Given the description of an element on the screen output the (x, y) to click on. 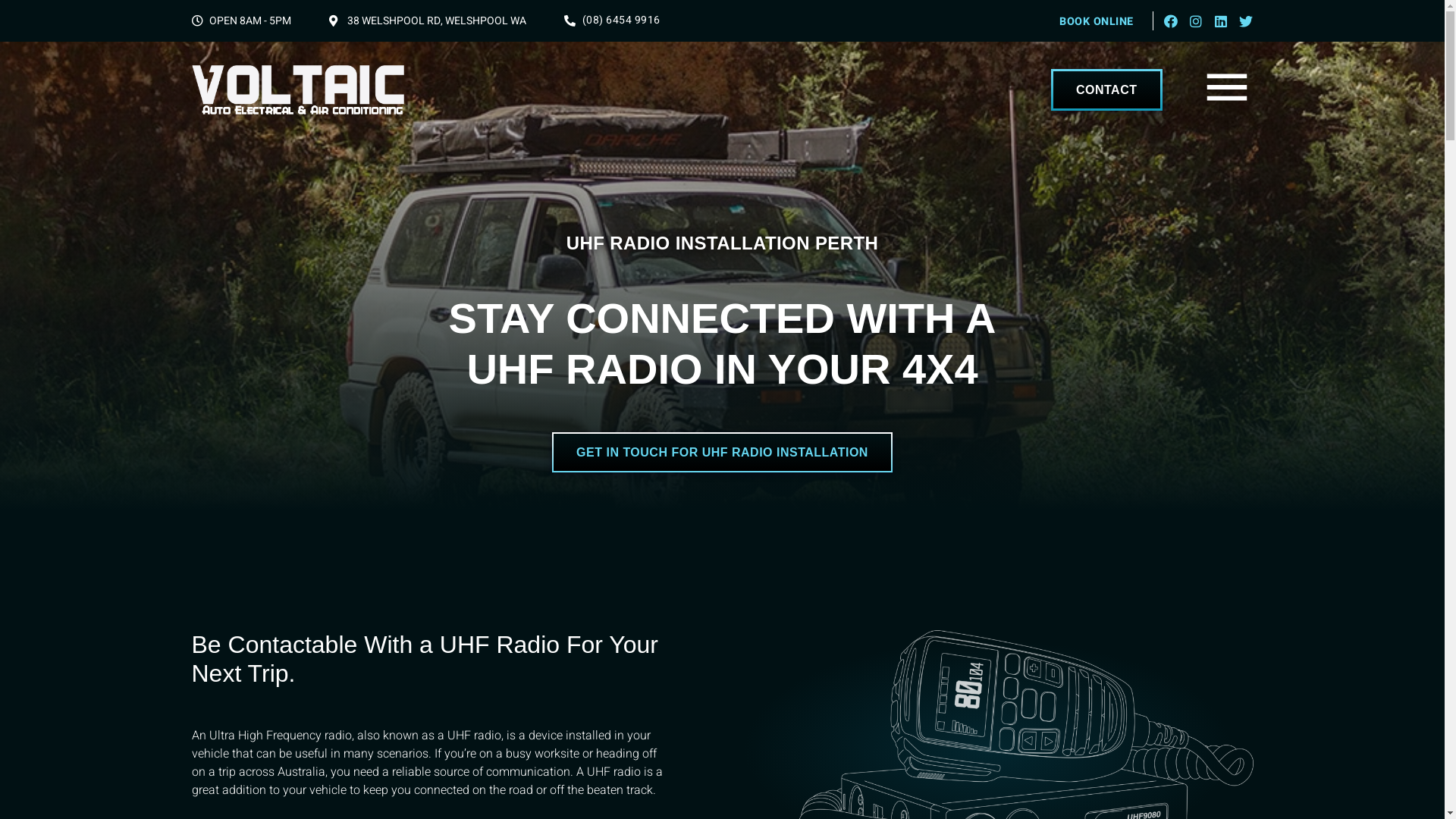
(08) 6454 9916 Element type: text (612, 20)
GET IN TOUCH FOR UHF RADIO INSTALLATION Element type: text (722, 452)
BOOK ONLINE Element type: text (1096, 19)
CONTACT Element type: text (1106, 89)
